Given the description of an element on the screen output the (x, y) to click on. 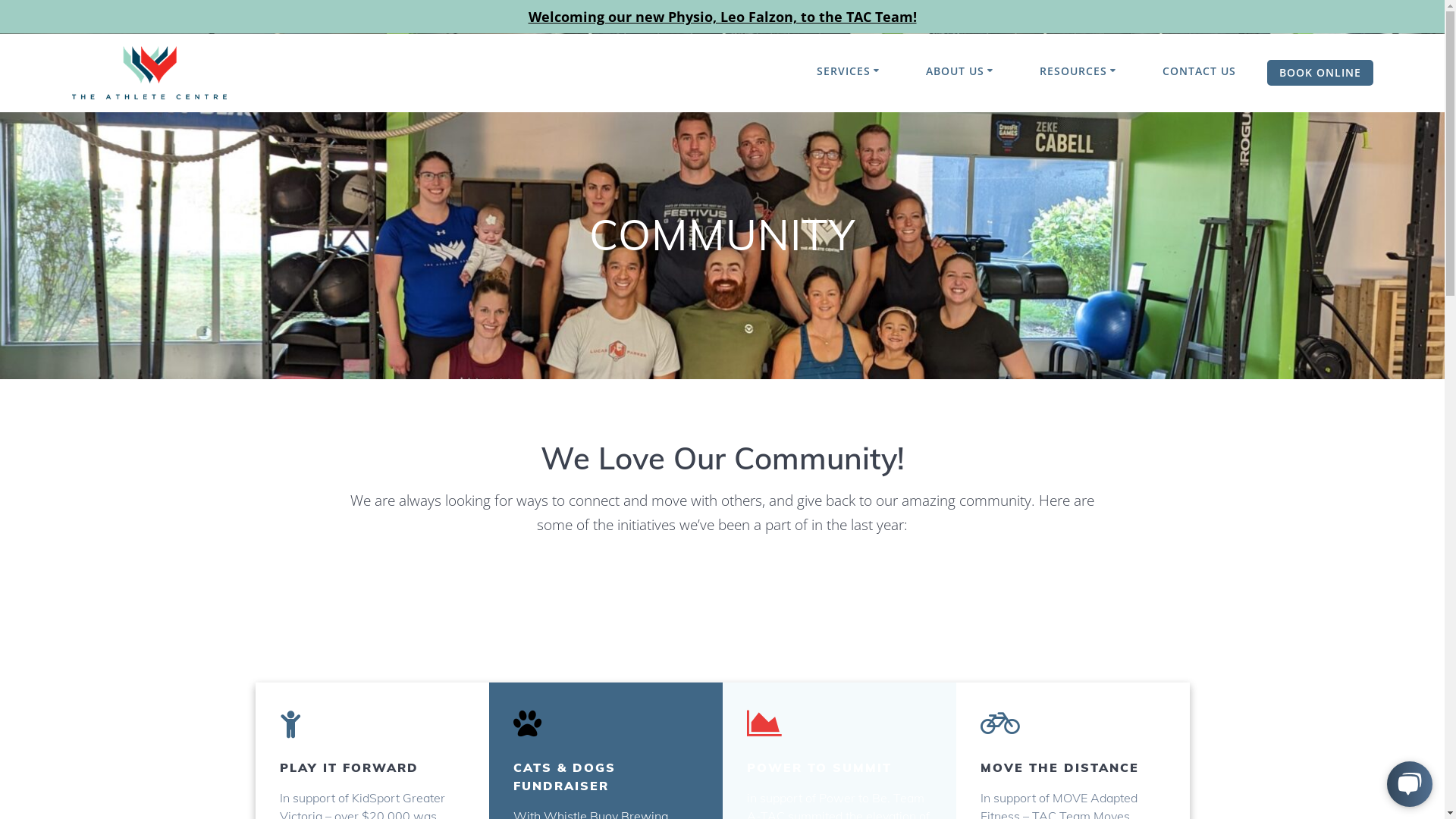
RESOURCES Element type: text (1080, 71)
BOOK ONLINE Element type: text (1320, 72)
SERVICES Element type: text (850, 71)
Welcoming our new Physio, Leo Falzon, to the TAC Team! Element type: text (721, 16)
CONTACT US Element type: text (1198, 71)
ABOUT US Element type: text (961, 71)
